Given the description of an element on the screen output the (x, y) to click on. 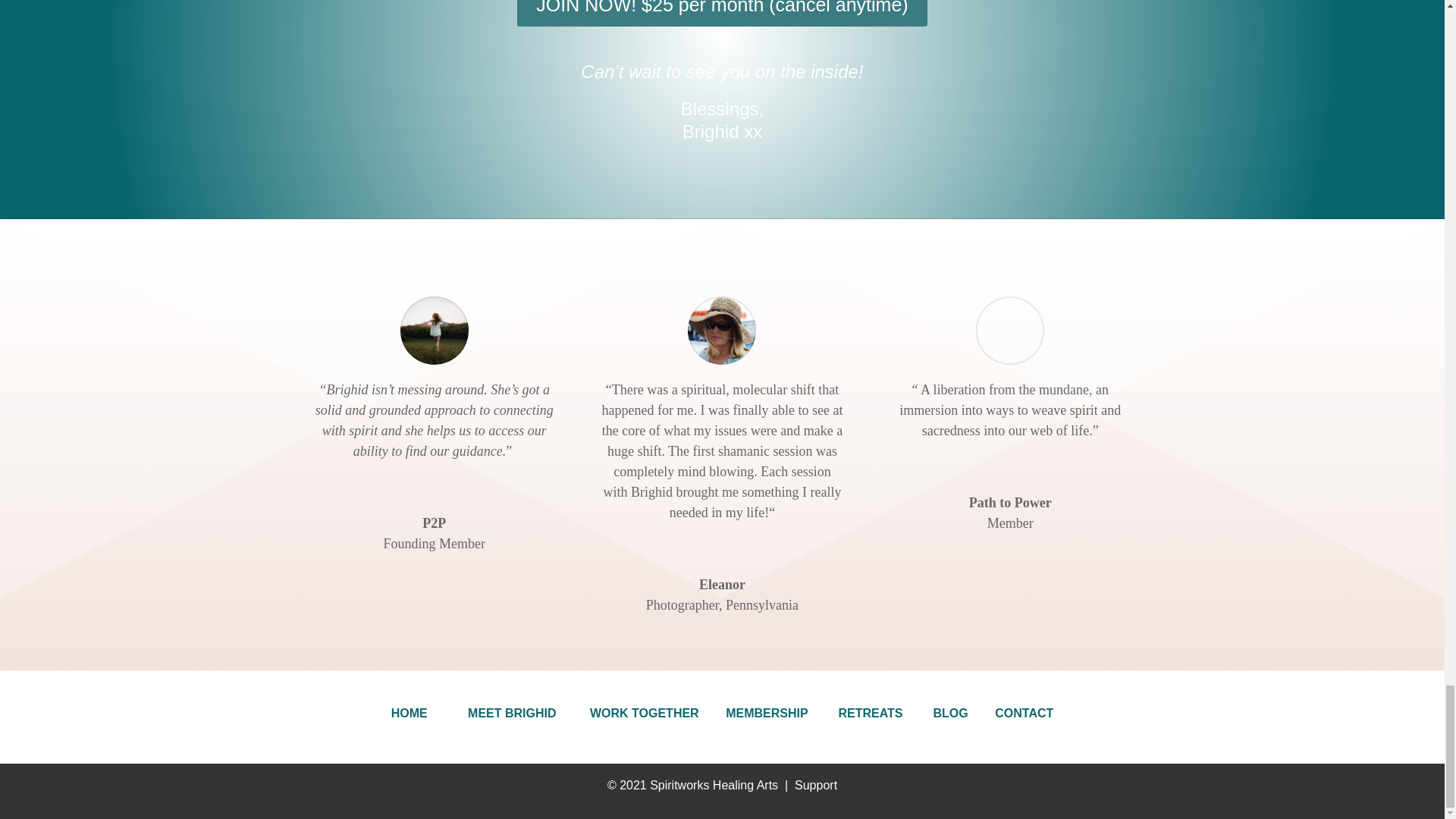
 BLOG (949, 712)
RETREATS  (871, 712)
MEET BRIGHID (511, 712)
CONTACT (1023, 712)
MEMBERSHIP    (770, 712)
Support (815, 784)
HOME  (412, 712)
WORK TOGETHER  (645, 712)
